Given the description of an element on the screen output the (x, y) to click on. 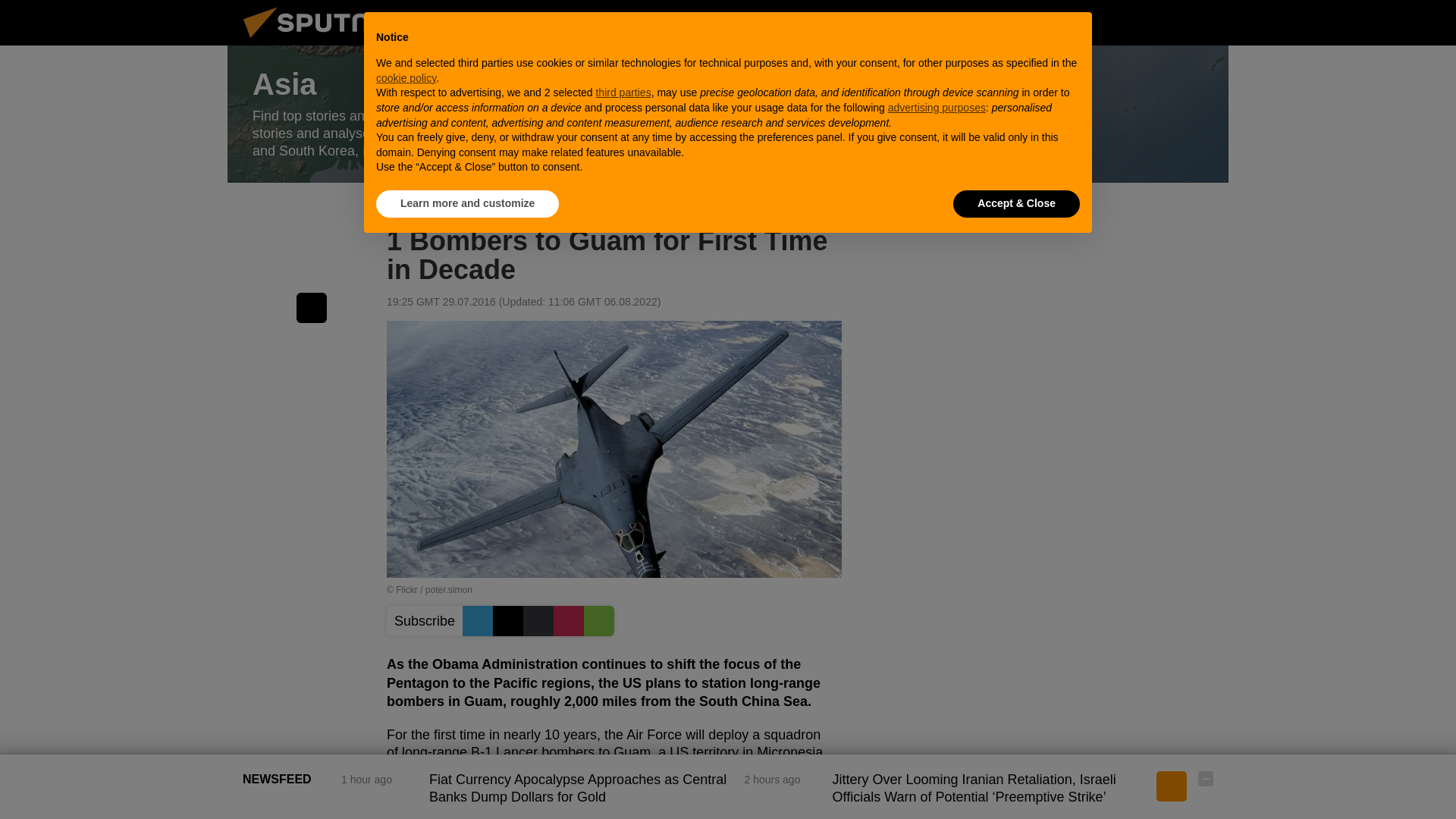
Chats (1206, 22)
Authorization (1129, 22)
Sputnik International (325, 41)
